Given the description of an element on the screen output the (x, y) to click on. 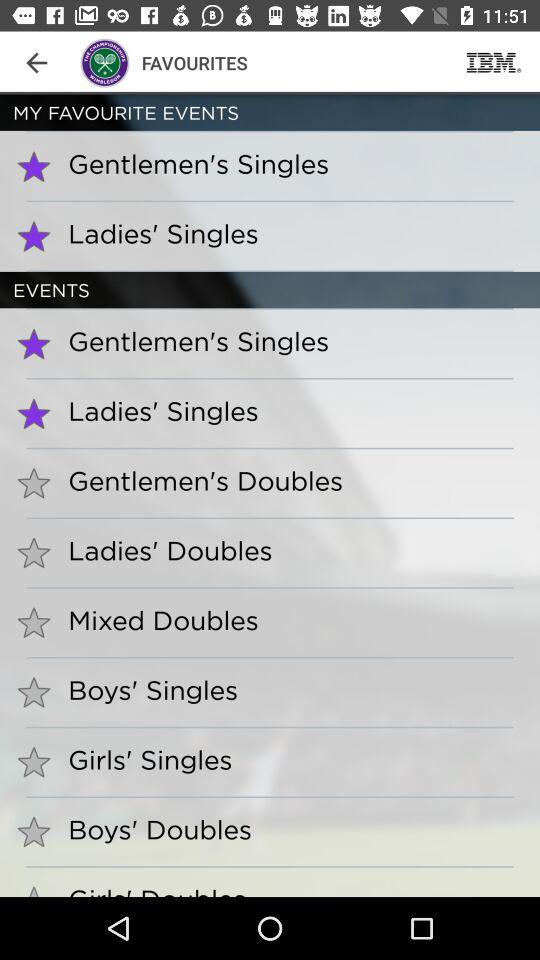
swipe to the mixed doubles item (156, 619)
